Given the description of an element on the screen output the (x, y) to click on. 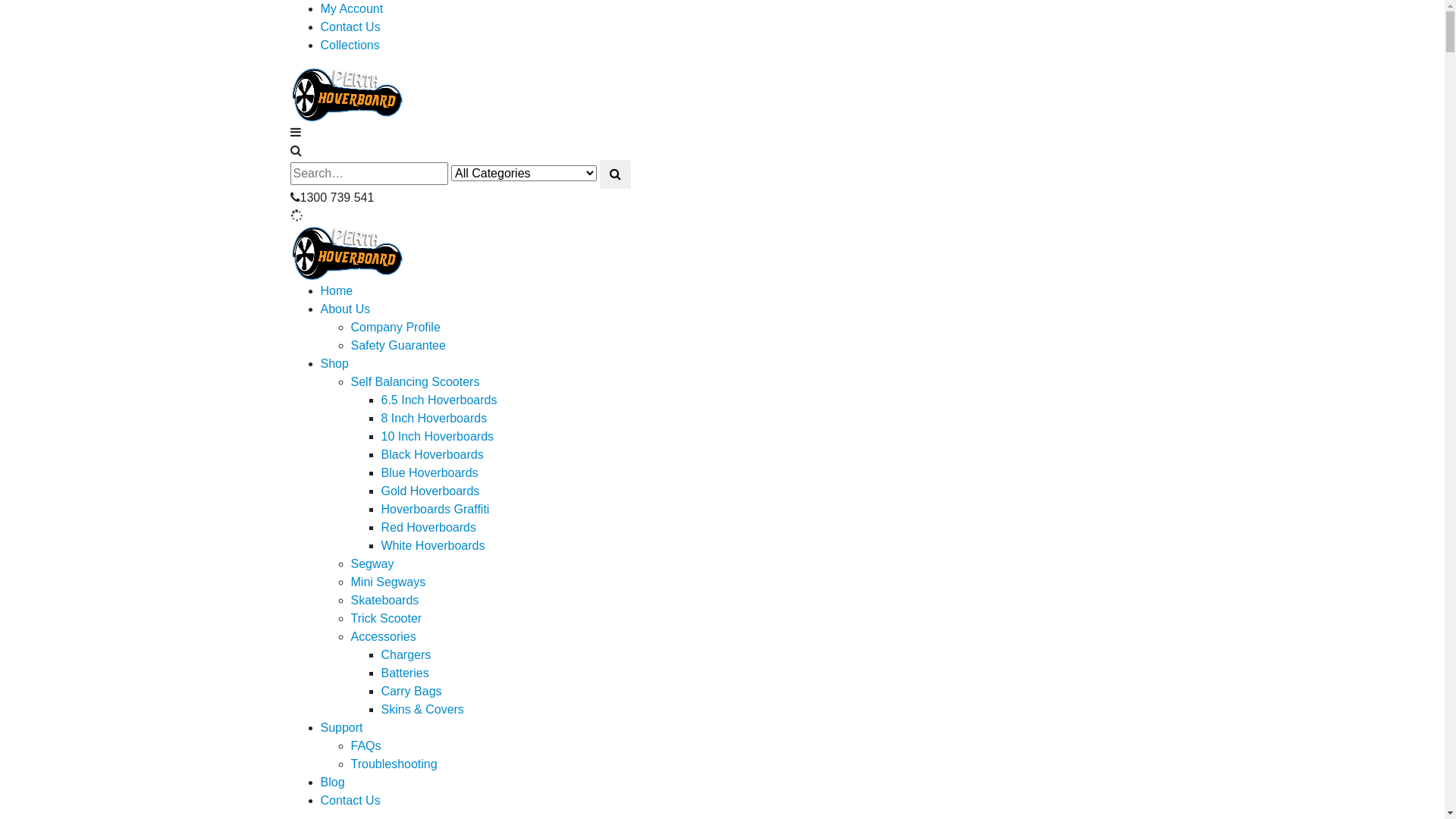
White Hoverboards Element type: text (432, 545)
10 Inch Hoverboards Element type: text (436, 435)
Skateboards Element type: text (384, 599)
Trick Scooter Element type: text (385, 617)
Batteries Element type: text (404, 672)
Mini Segways Element type: text (387, 581)
Search Element type: hover (614, 174)
Segway Element type: text (371, 563)
Contact Us Element type: text (349, 799)
Blue Hoverboards Element type: text (428, 472)
Contact Us Element type: text (349, 26)
Self Balancing Scooters Element type: text (414, 381)
Hoverboards Perth -  Element type: hover (346, 93)
About Us Element type: text (345, 308)
Troubleshooting Element type: text (393, 763)
My Account Element type: text (351, 8)
Shop Element type: text (334, 363)
Hoverboards Perth -  Element type: hover (346, 252)
Hoverboards Graffiti Element type: text (434, 508)
FAQs Element type: text (365, 745)
8 Inch Hoverboards Element type: text (433, 417)
Skins & Covers Element type: text (421, 708)
Red Hoverboards Element type: text (427, 526)
Gold Hoverboards Element type: text (429, 490)
Collections Element type: text (349, 44)
Blog Element type: text (332, 781)
Home Element type: text (336, 290)
Safety Guarantee Element type: text (397, 344)
Black Hoverboards Element type: text (431, 454)
Chargers Element type: text (405, 654)
Carry Bags Element type: text (410, 690)
Support Element type: text (341, 727)
Company Profile Element type: text (394, 326)
Accessories Element type: text (382, 636)
6.5 Inch Hoverboards Element type: text (438, 399)
